Given the description of an element on the screen output the (x, y) to click on. 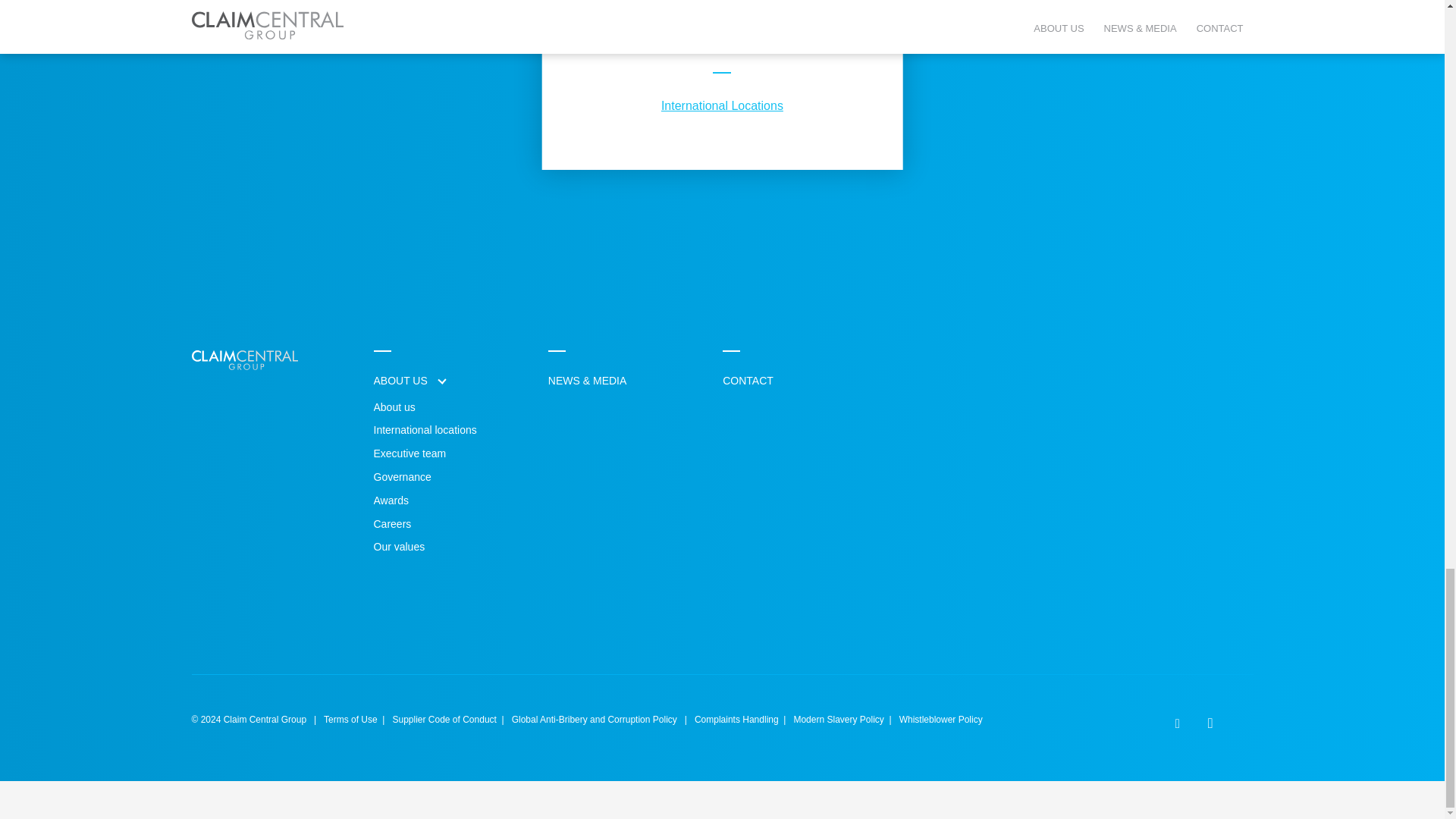
International Locations (722, 105)
